Given the description of an element on the screen output the (x, y) to click on. 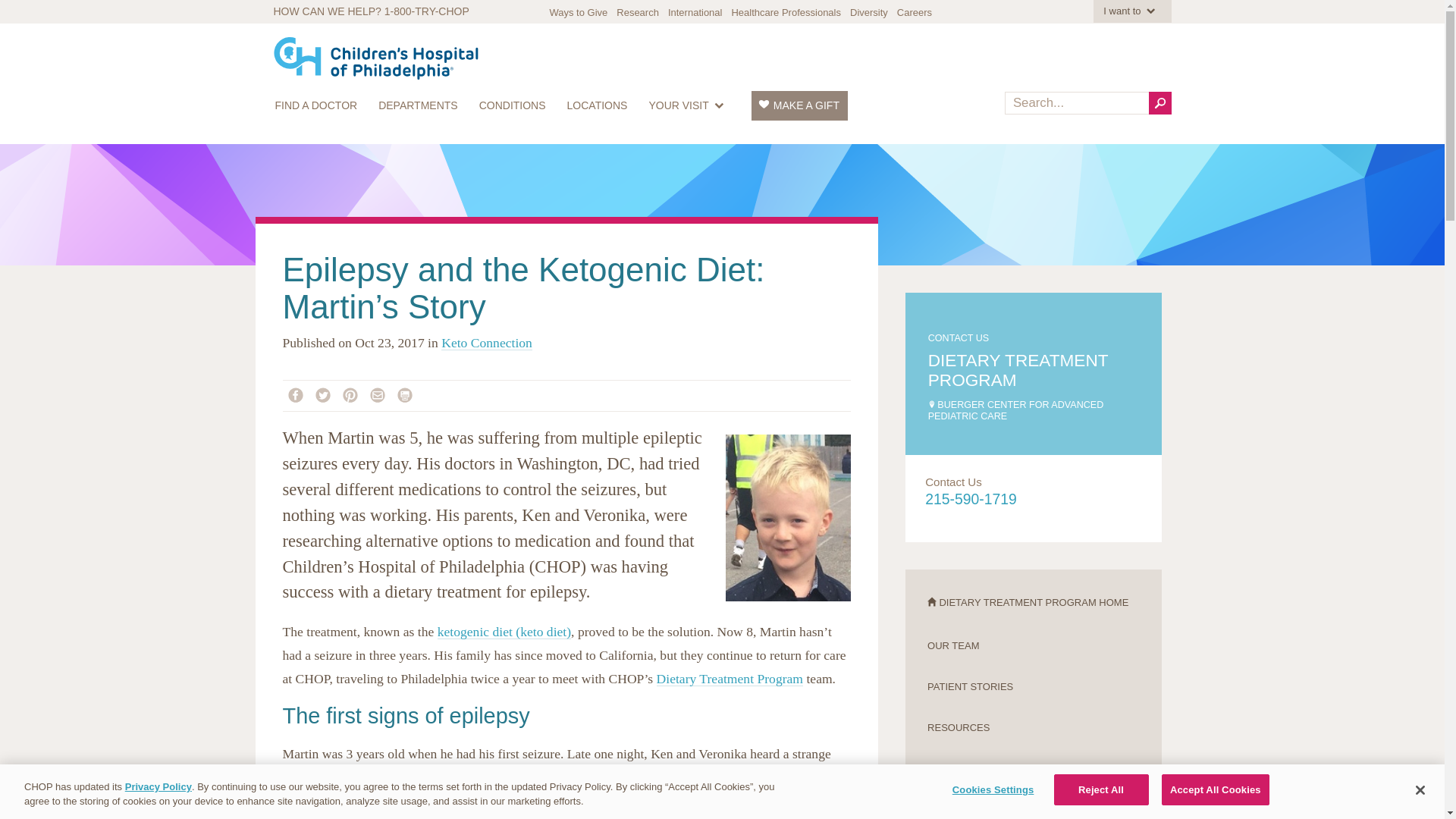
Search (1159, 102)
Ways to Give (577, 12)
Healthcare Professionals (785, 12)
Diversity (869, 12)
Comprehensive listing of CHOP's programs and services (418, 104)
Research (637, 12)
I want to (1131, 11)
Tweet (326, 394)
Pin it (354, 394)
International (695, 12)
Your visit... action links (689, 105)
Share on Facebook (299, 394)
Send email (379, 394)
I want to... action links (1131, 11)
Careers (913, 12)
